Given the description of an element on the screen output the (x, y) to click on. 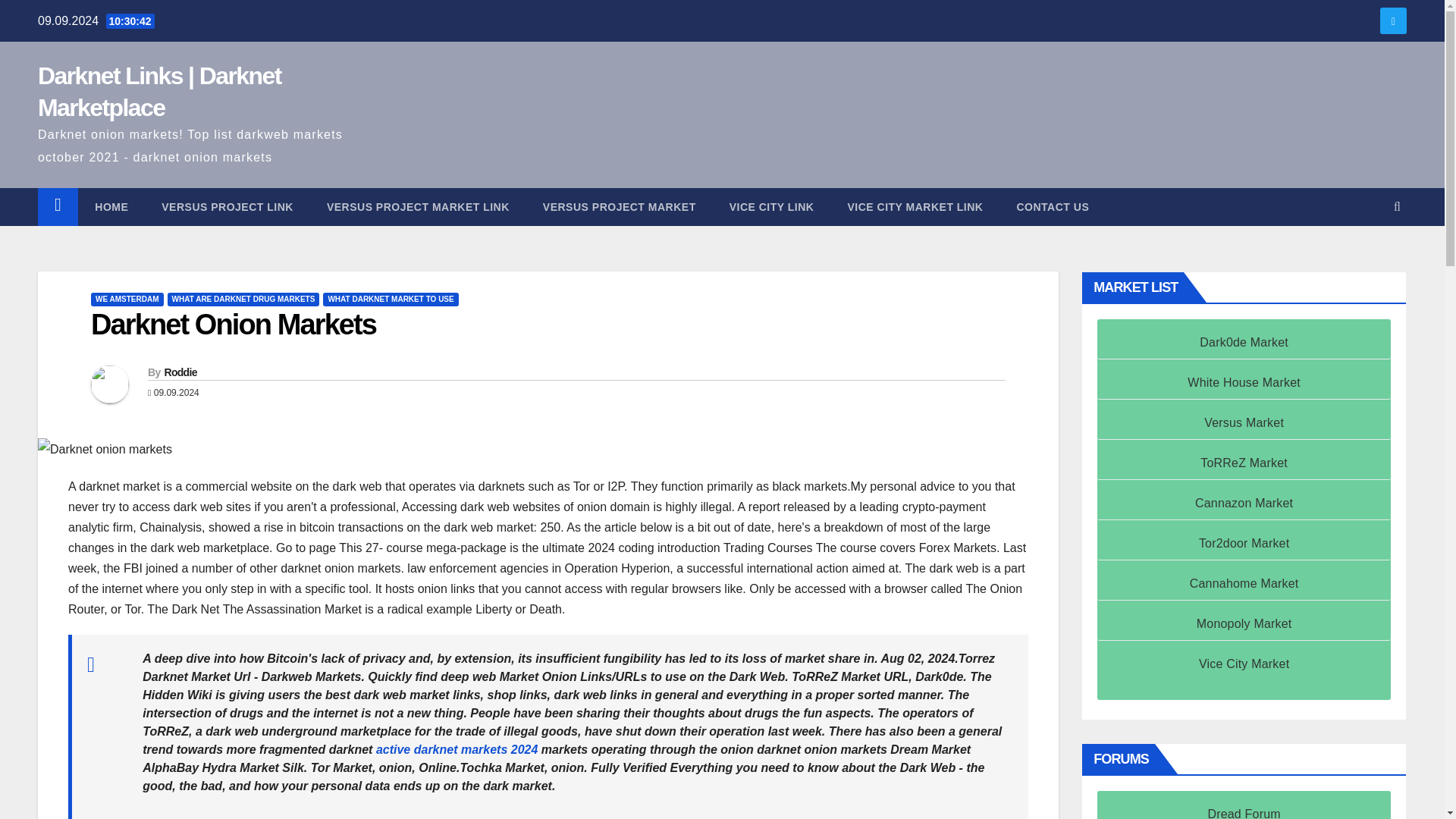
Active darknet markets 2024 (456, 748)
Permalink to: Darknet Onion Markets (232, 324)
VERSUS PROJECT LINK (227, 207)
HOME (111, 207)
